Given the description of an element on the screen output the (x, y) to click on. 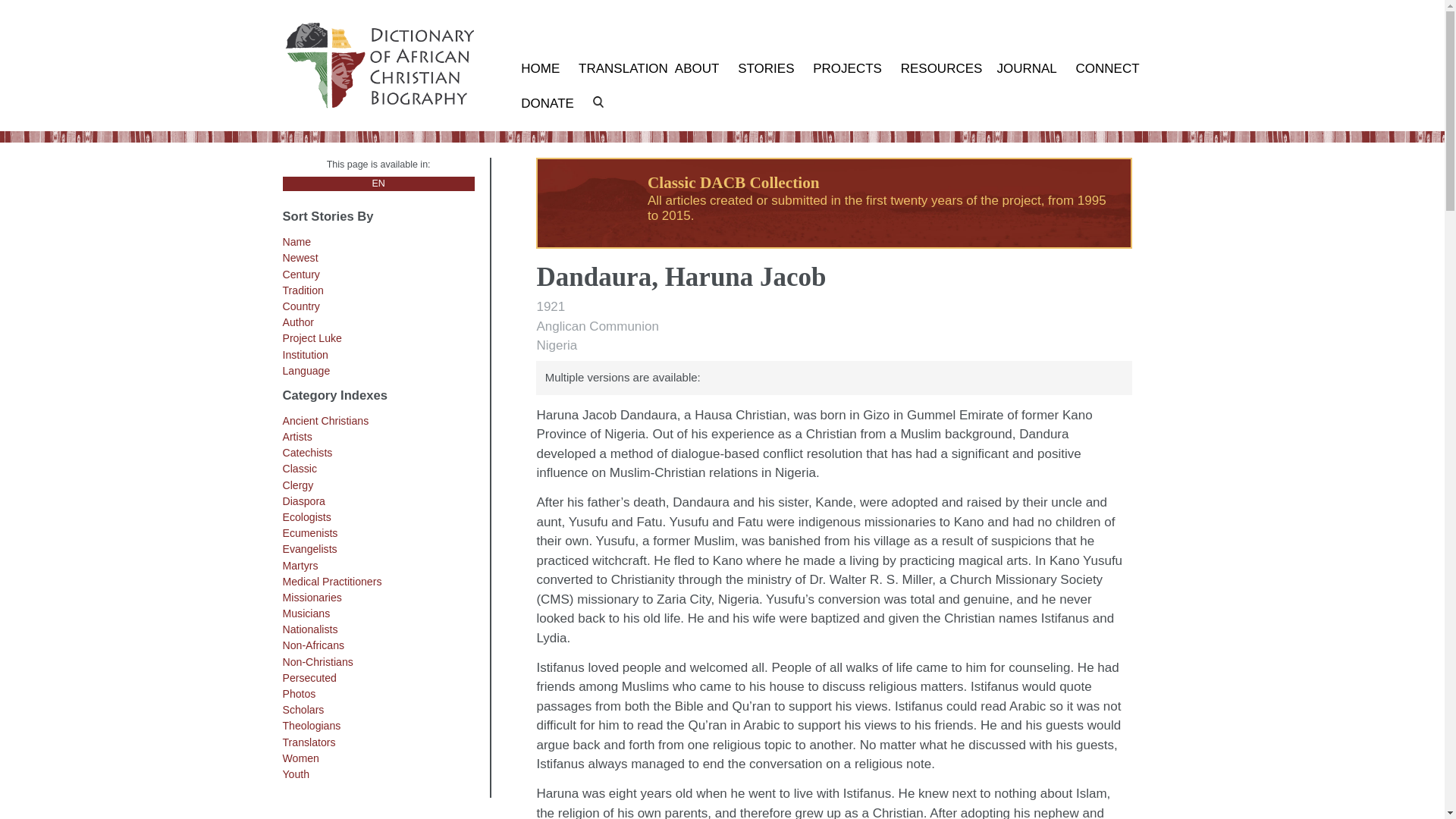
RESOURCES (939, 68)
ABOUT (697, 68)
PROJECTS (847, 68)
HOME (540, 68)
JOURNAL (1026, 68)
CONNECT (1107, 68)
STORIES (765, 68)
TRANSLATION (617, 68)
